Given the description of an element on the screen output the (x, y) to click on. 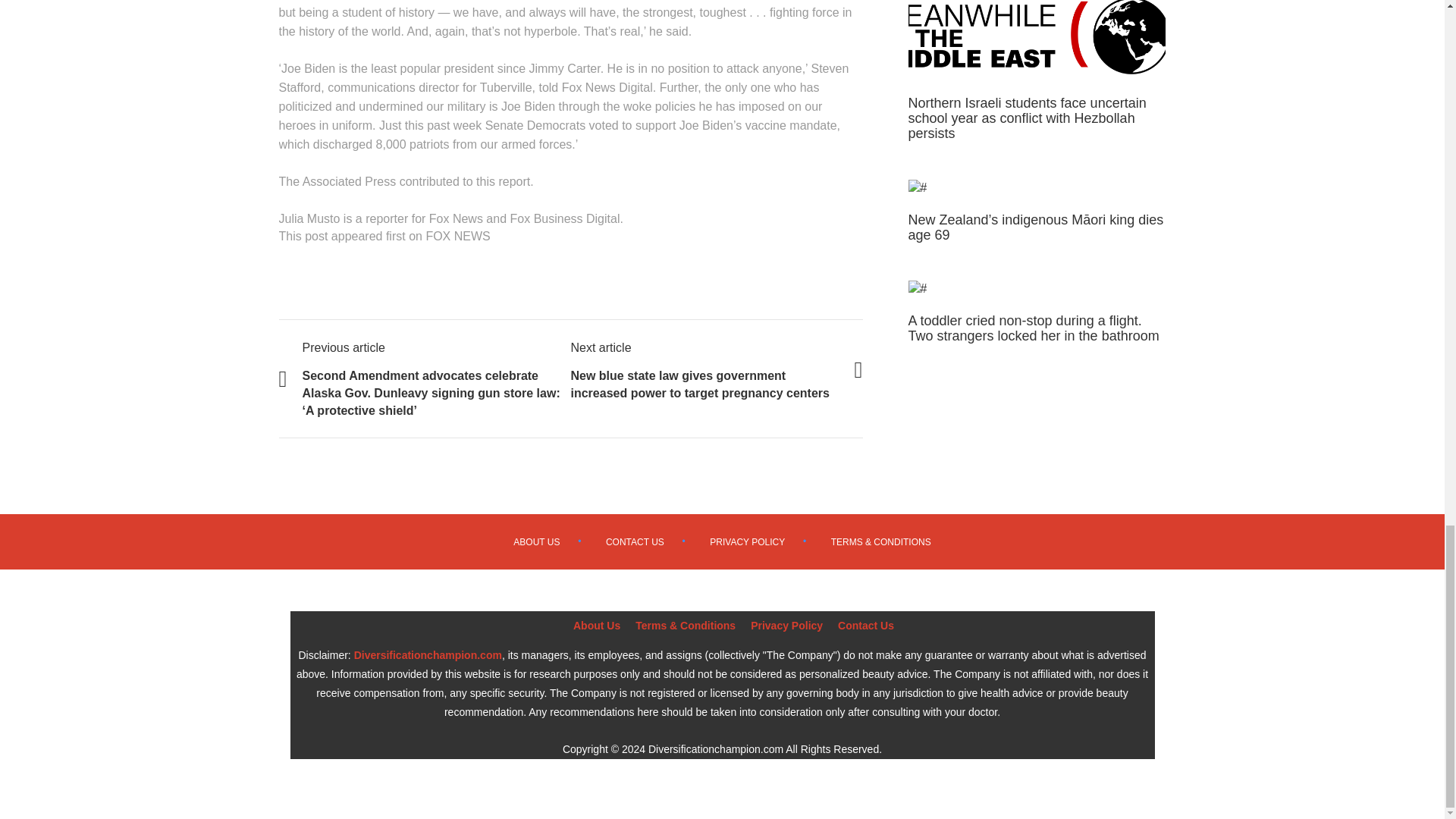
Privacy Policy (786, 625)
PRIVACY POLICY (747, 542)
Diversificationchampion.com (427, 654)
CONTACT US (634, 542)
ABOUT US (536, 542)
Contact Us (865, 625)
About Us (596, 625)
